Given the description of an element on the screen output the (x, y) to click on. 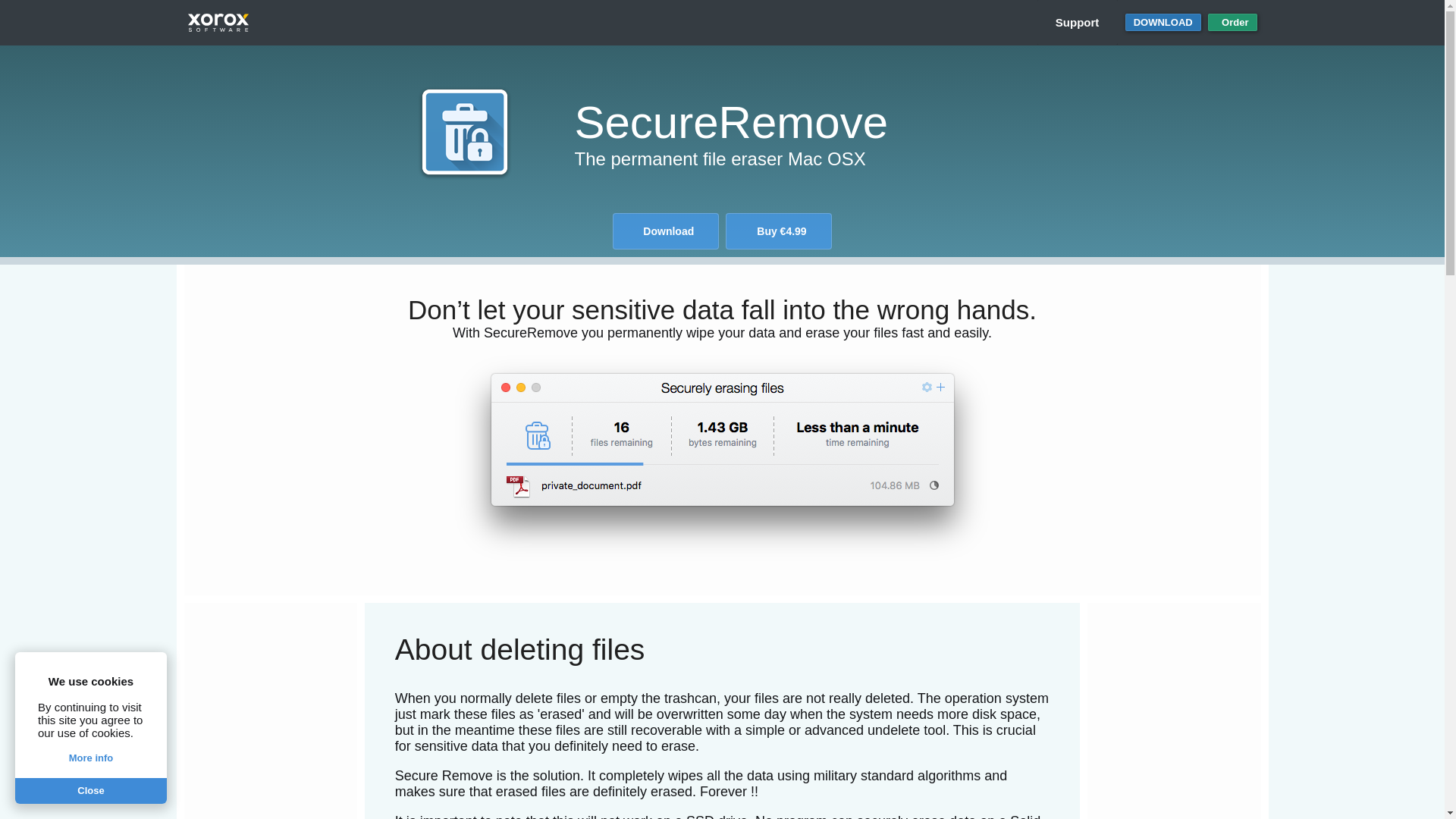
DOWNLOAD (1163, 22)
Purchase SecureRemove (1232, 22)
  Order (1232, 22)
  Download (665, 230)
Secure Remove logo (464, 131)
  Support   (1077, 22)
Securely erasing files (722, 457)
Close (90, 790)
More info (90, 757)
Xorox logo (217, 22)
Download SecureRemove (1163, 22)
